Given the description of an element on the screen output the (x, y) to click on. 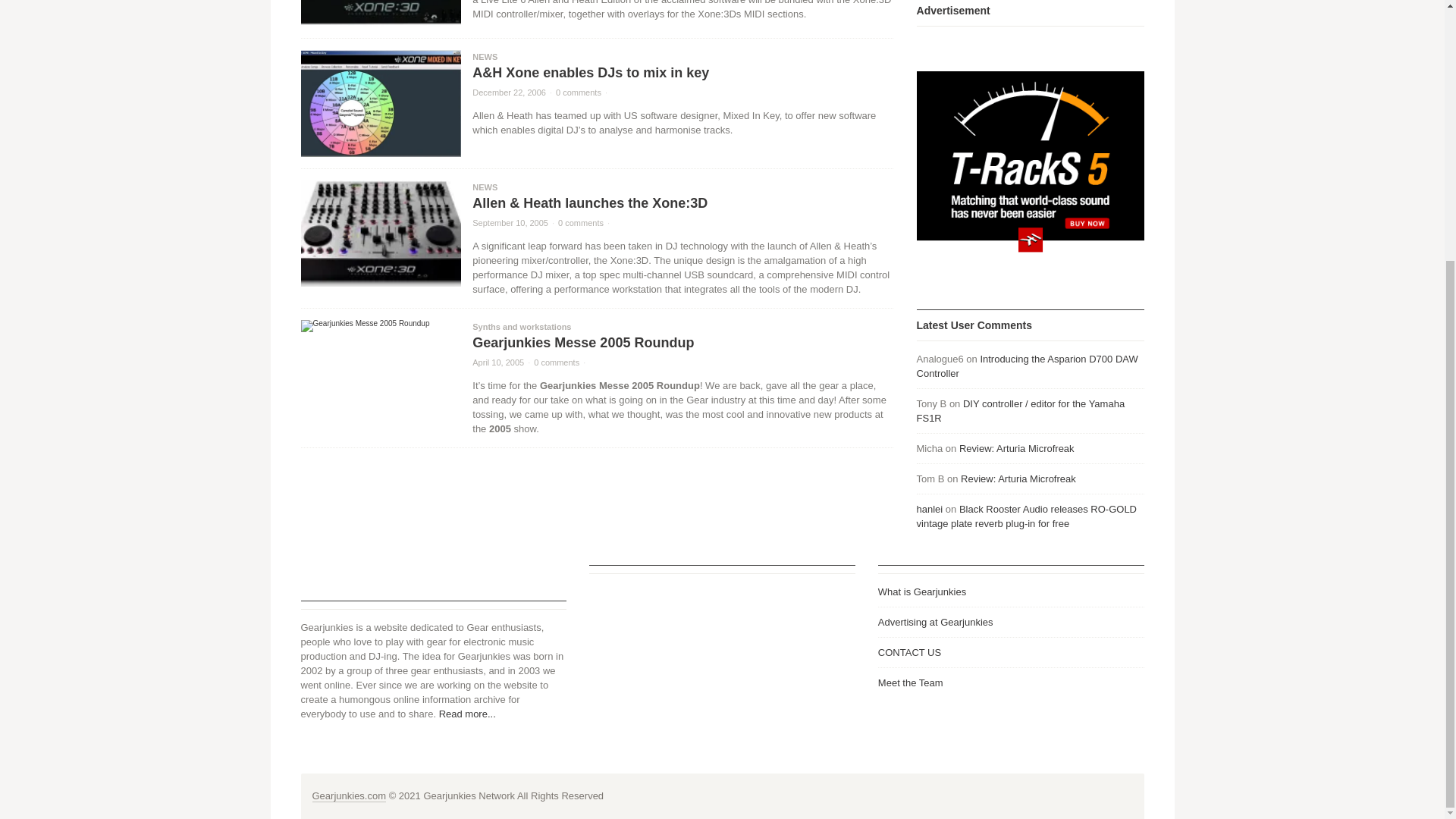
0 comments (578, 92)
Gearjunkies Messe 2005 Roundup (379, 326)
NEWS (484, 186)
Permalink to Gearjunkies Messe 2005 Roundup (497, 361)
0 comments (580, 222)
December 22, 2006 (508, 92)
Synths and workstations (520, 326)
Xone:3D upgrades to Live 6 (379, 13)
September 10, 2005 (509, 222)
NEWS (484, 56)
